Given the description of an element on the screen output the (x, y) to click on. 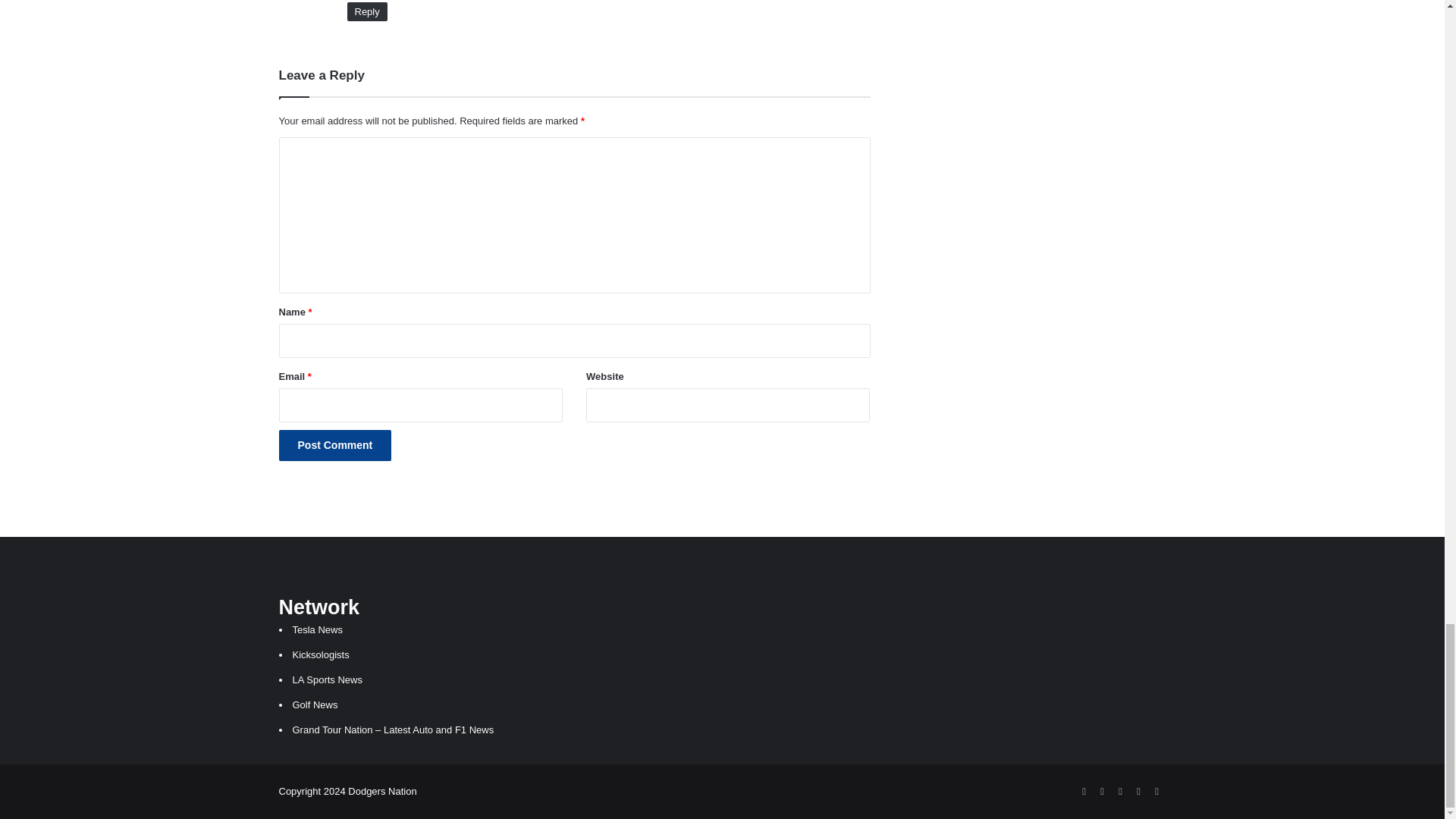
Post Comment (335, 445)
